Given the description of an element on the screen output the (x, y) to click on. 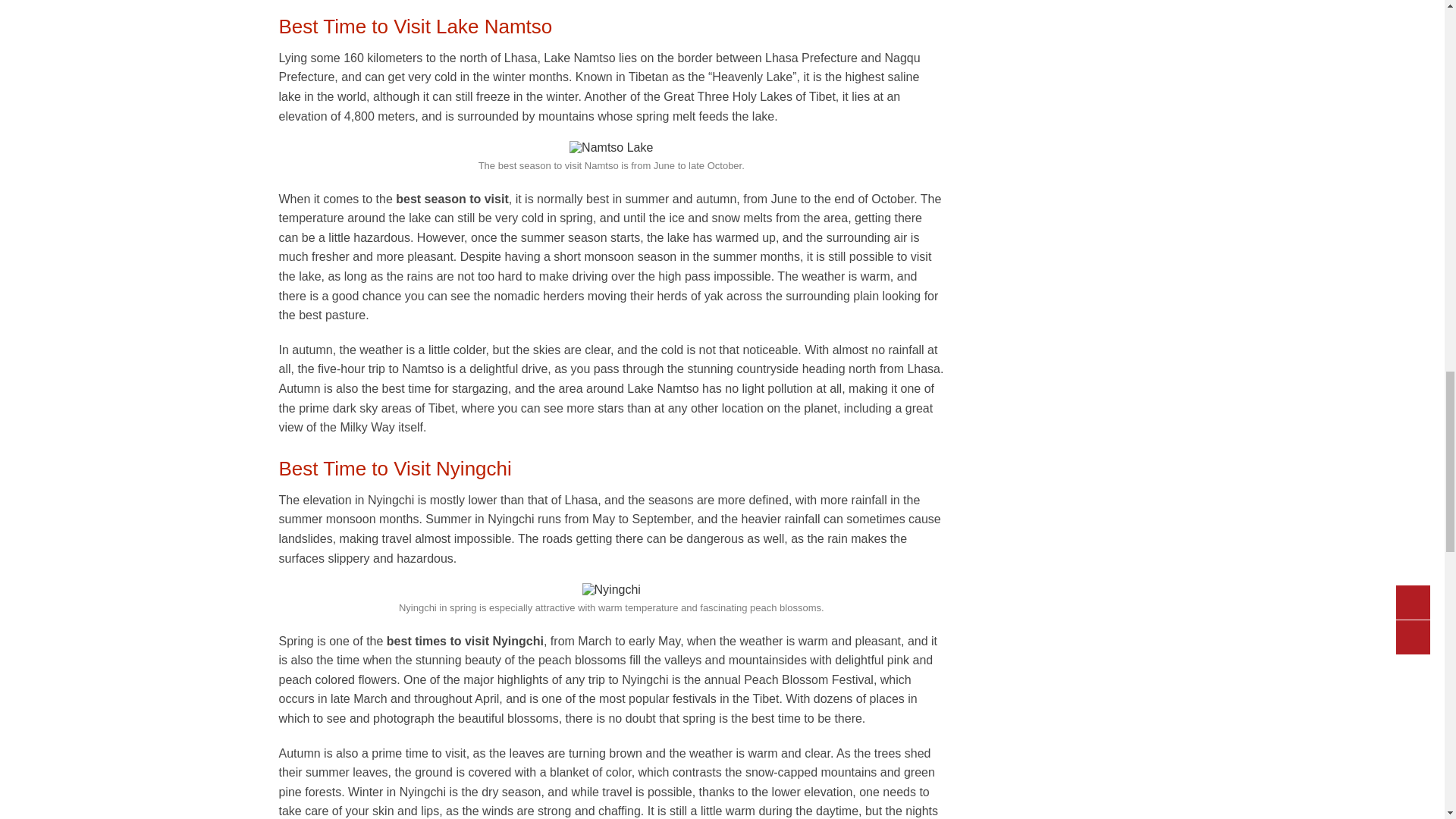
Nyingchi (611, 590)
Namtso Lake (610, 147)
